Given the description of an element on the screen output the (x, y) to click on. 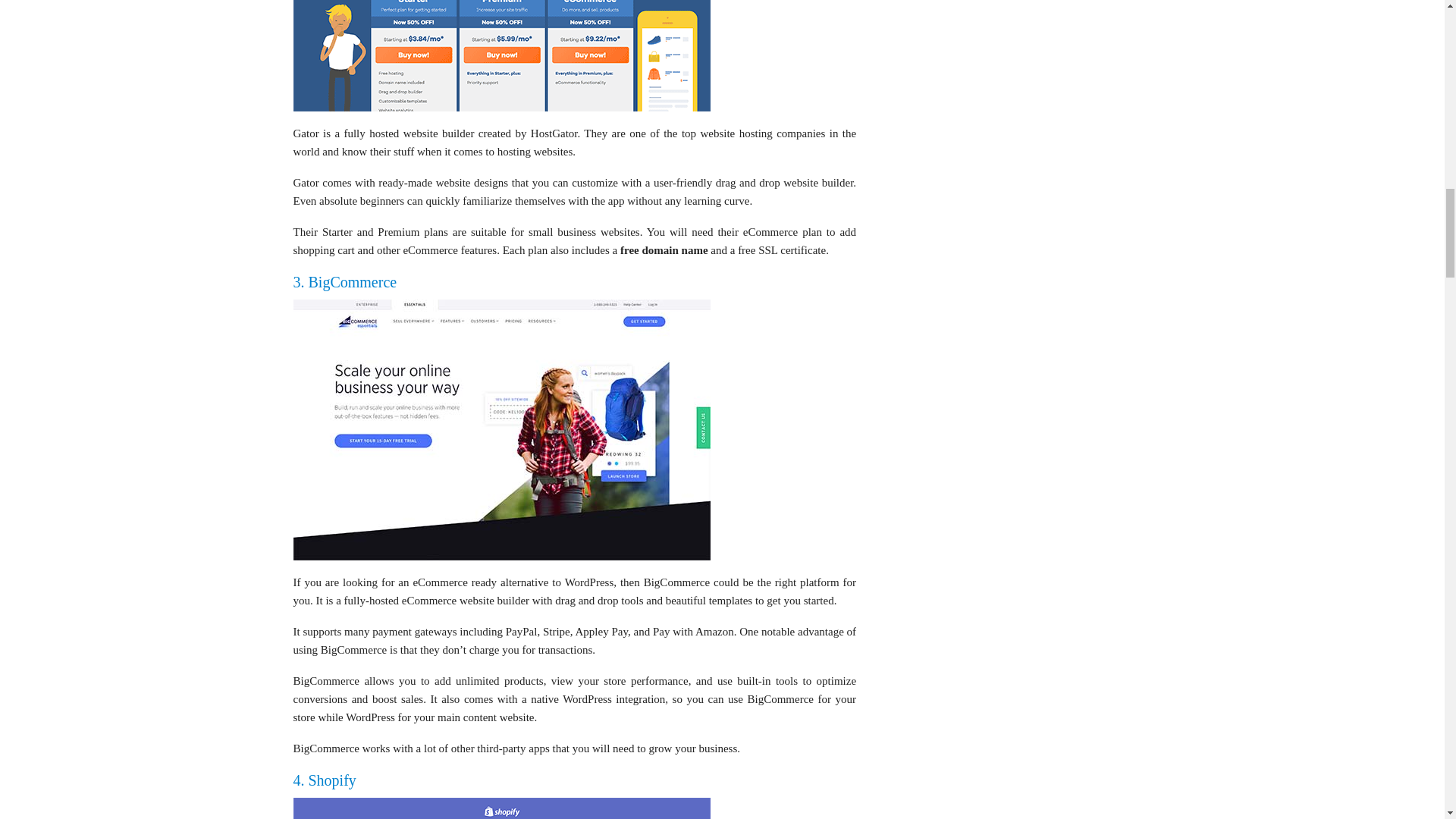
BigCommerce (344, 281)
Shopify (323, 780)
BigCommerce (501, 428)
BigCommerce (501, 429)
Shopify (501, 808)
Gator website builder by HostGator (501, 55)
